Given the description of an element on the screen output the (x, y) to click on. 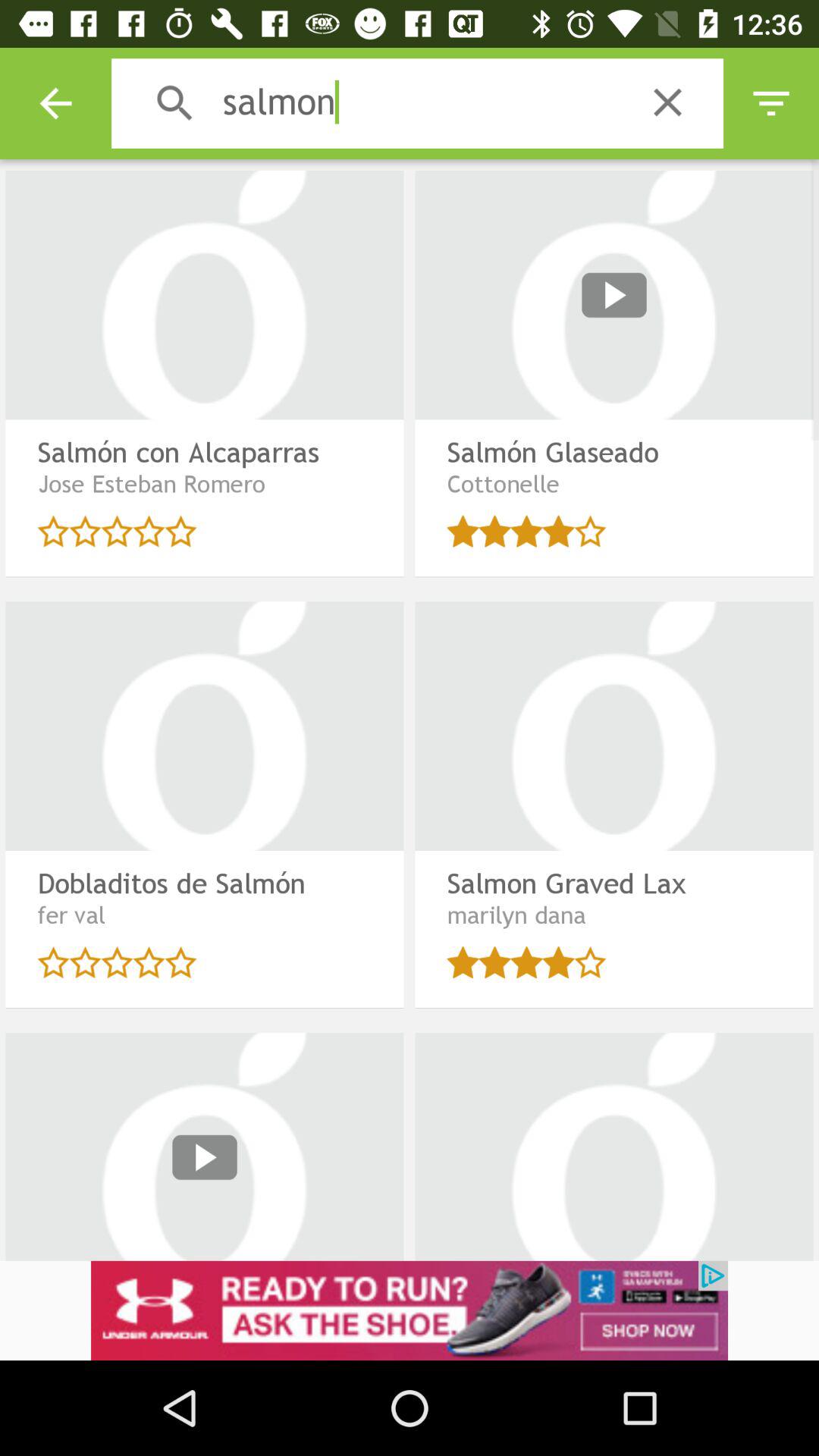
click on advertisement (409, 1310)
